Given the description of an element on the screen output the (x, y) to click on. 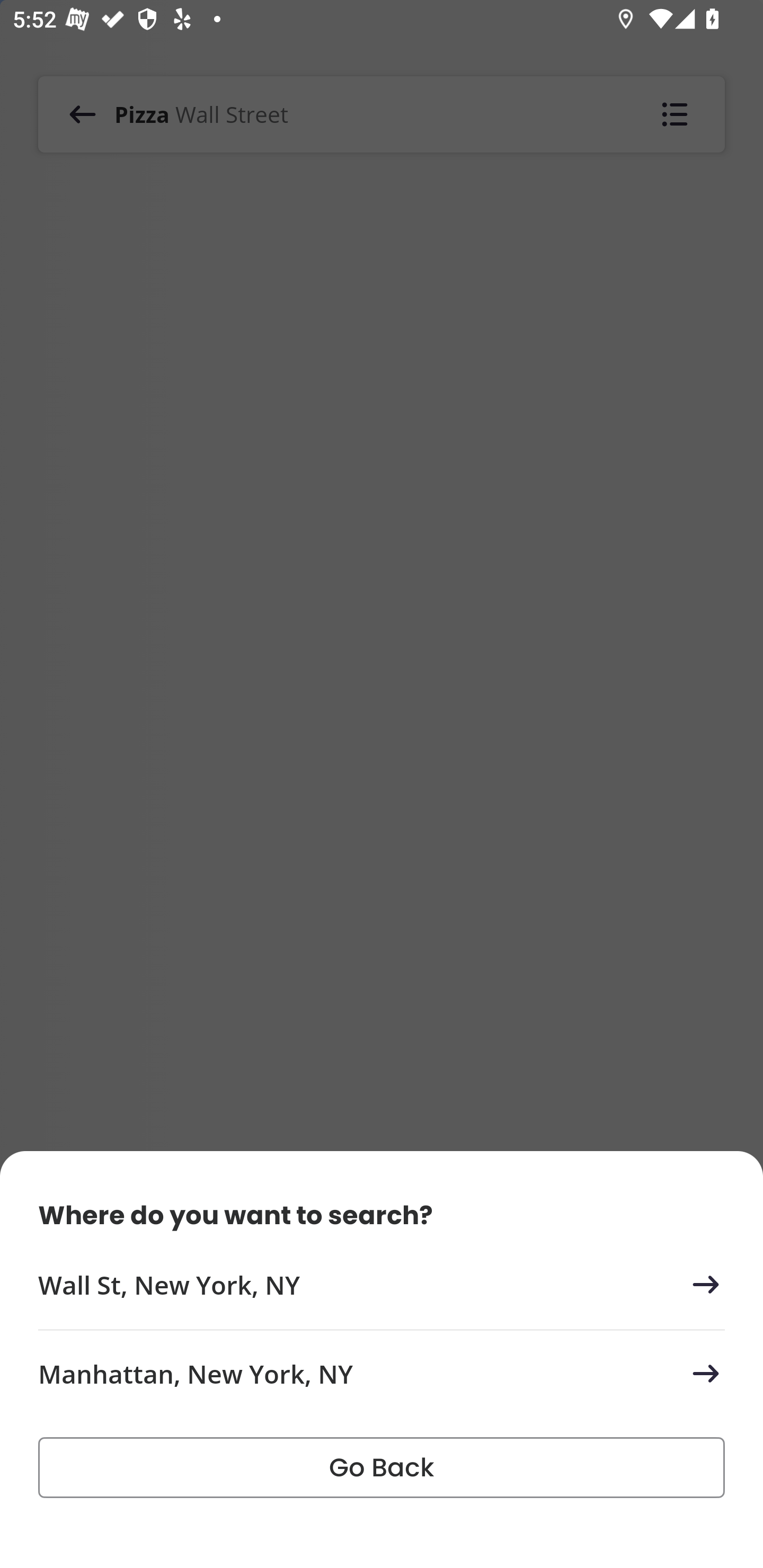
Wall St, New York, NY (381, 1284)
